Given the description of an element on the screen output the (x, y) to click on. 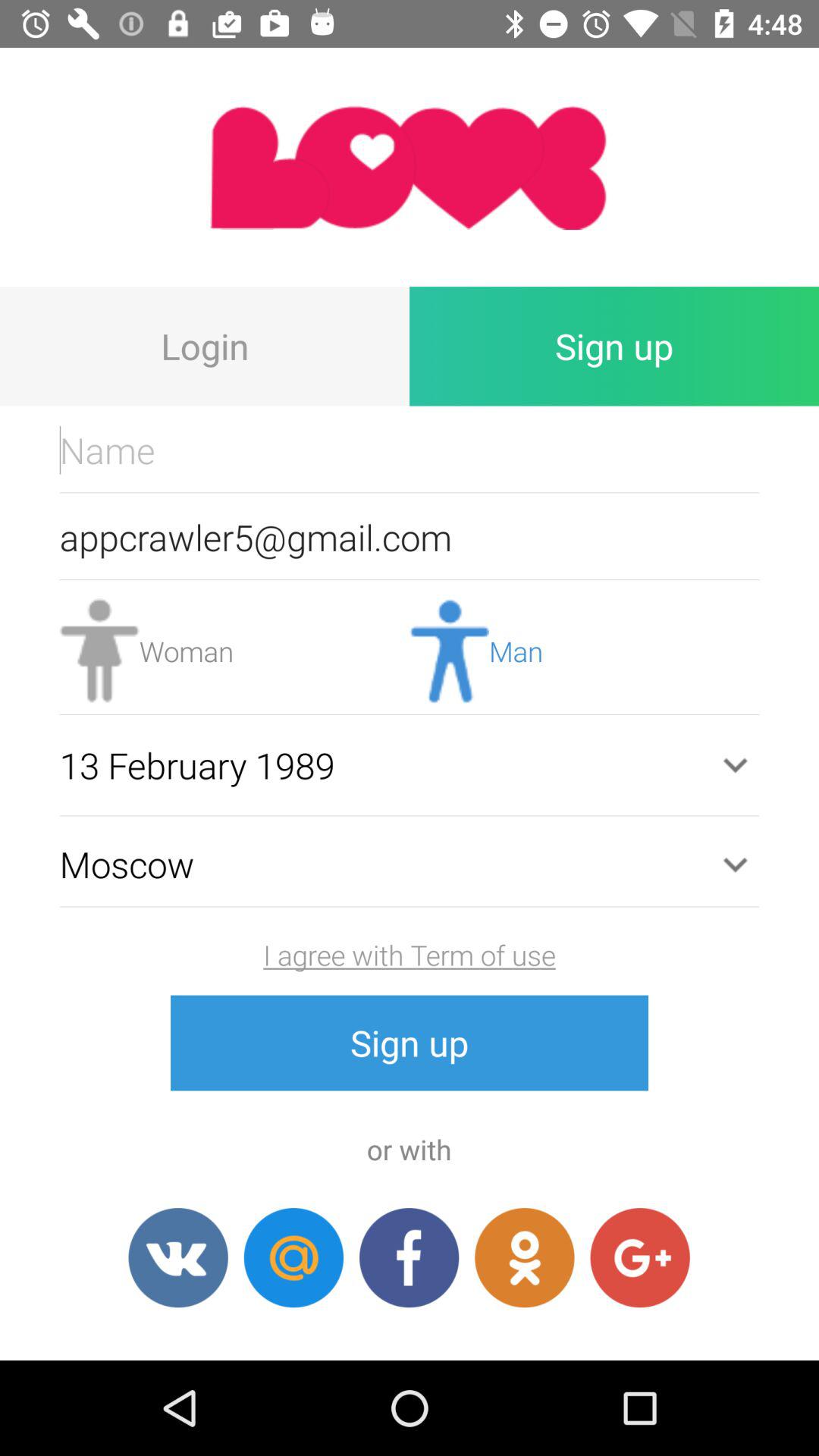
google plus (639, 1257)
